Given the description of an element on the screen output the (x, y) to click on. 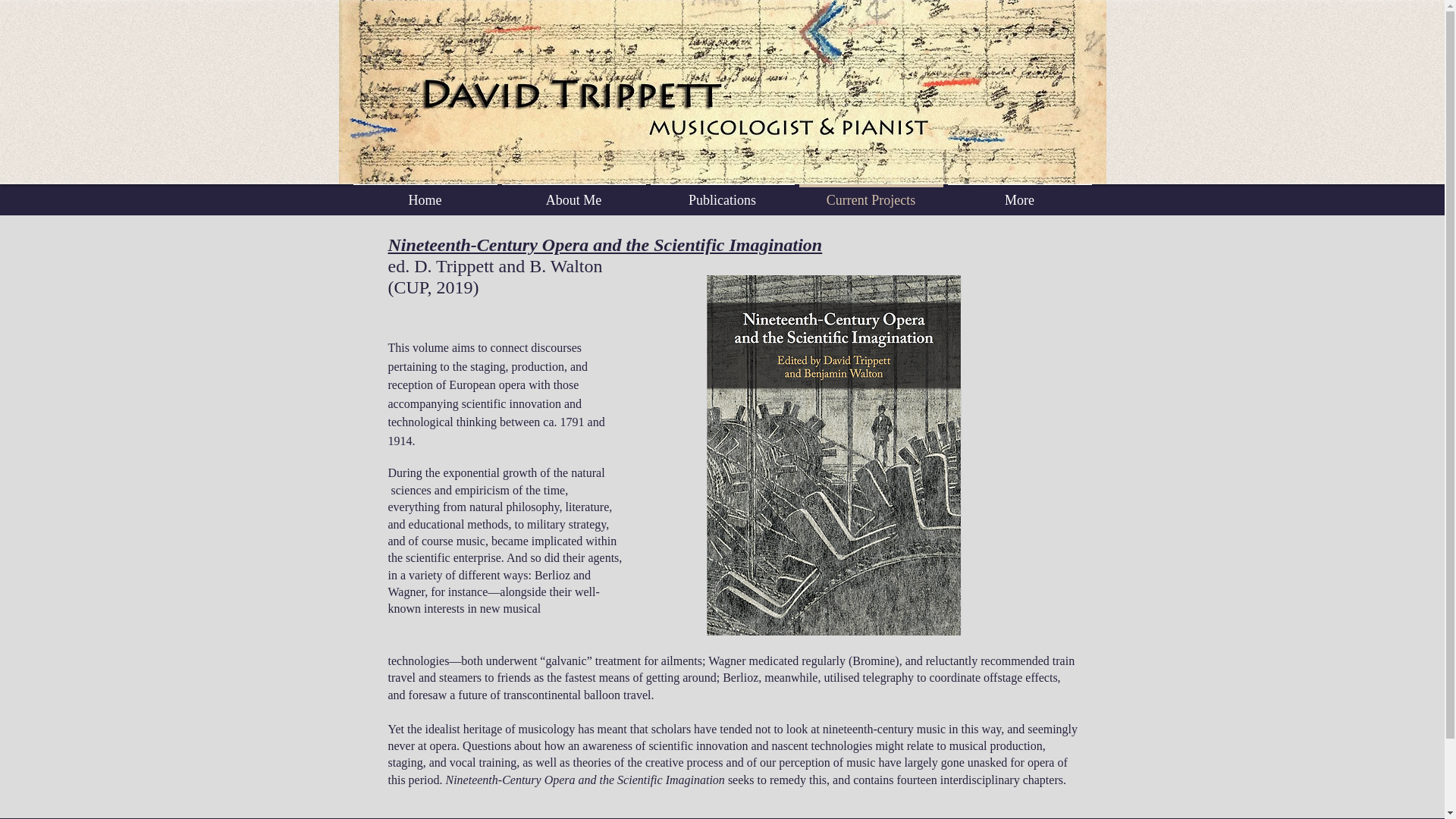
Nineteenth-Century Opera and the Scientific Imagination (605, 244)
Publications (721, 193)
Current Projects (870, 193)
Home (424, 193)
About Me (573, 193)
